Given the description of an element on the screen output the (x, y) to click on. 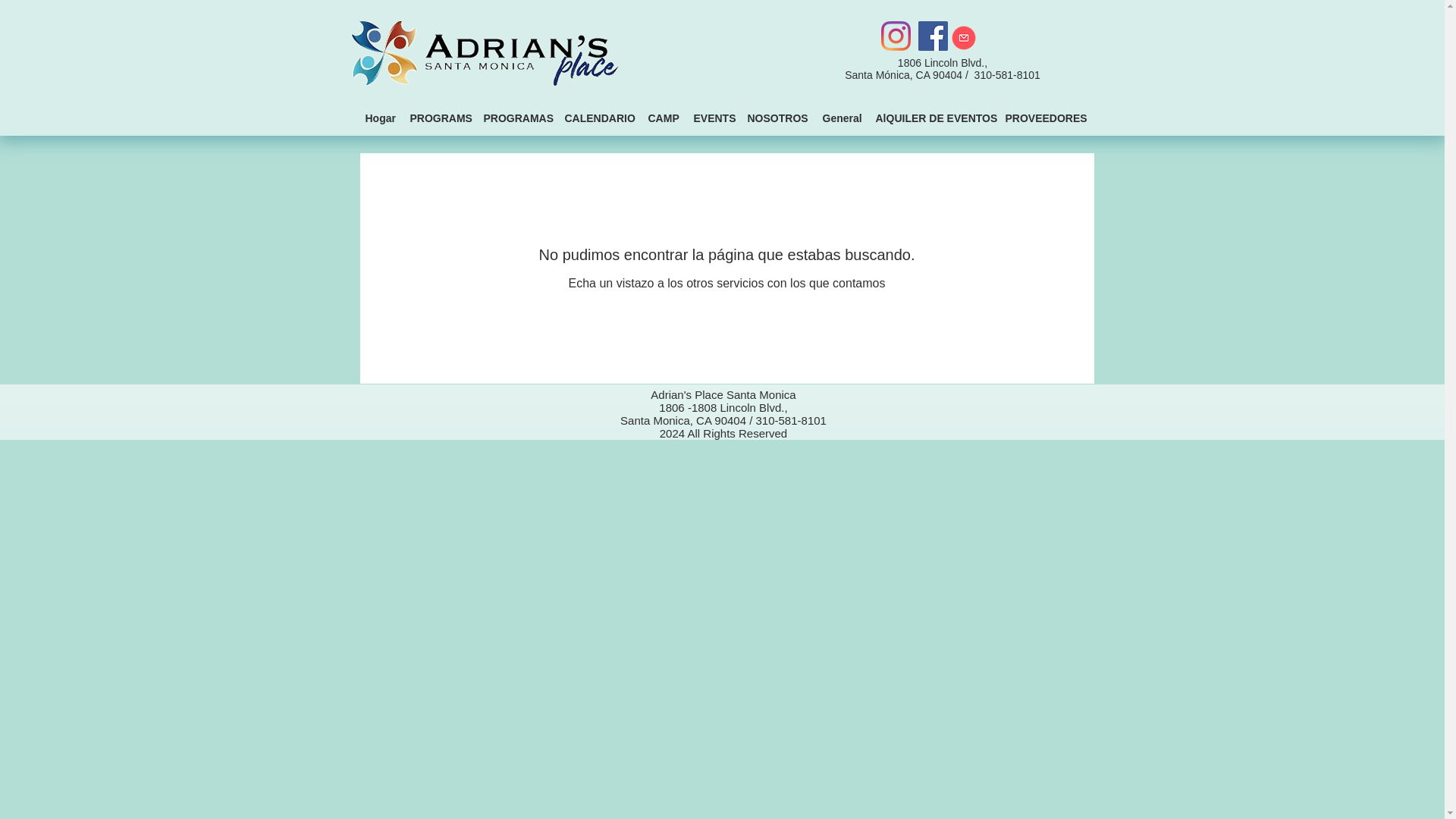
PROGRAMAS (516, 118)
CALENDARIO (598, 118)
Hogar (380, 118)
EVENTS (712, 118)
NOSOTROS (777, 118)
